Given the description of an element on the screen output the (x, y) to click on. 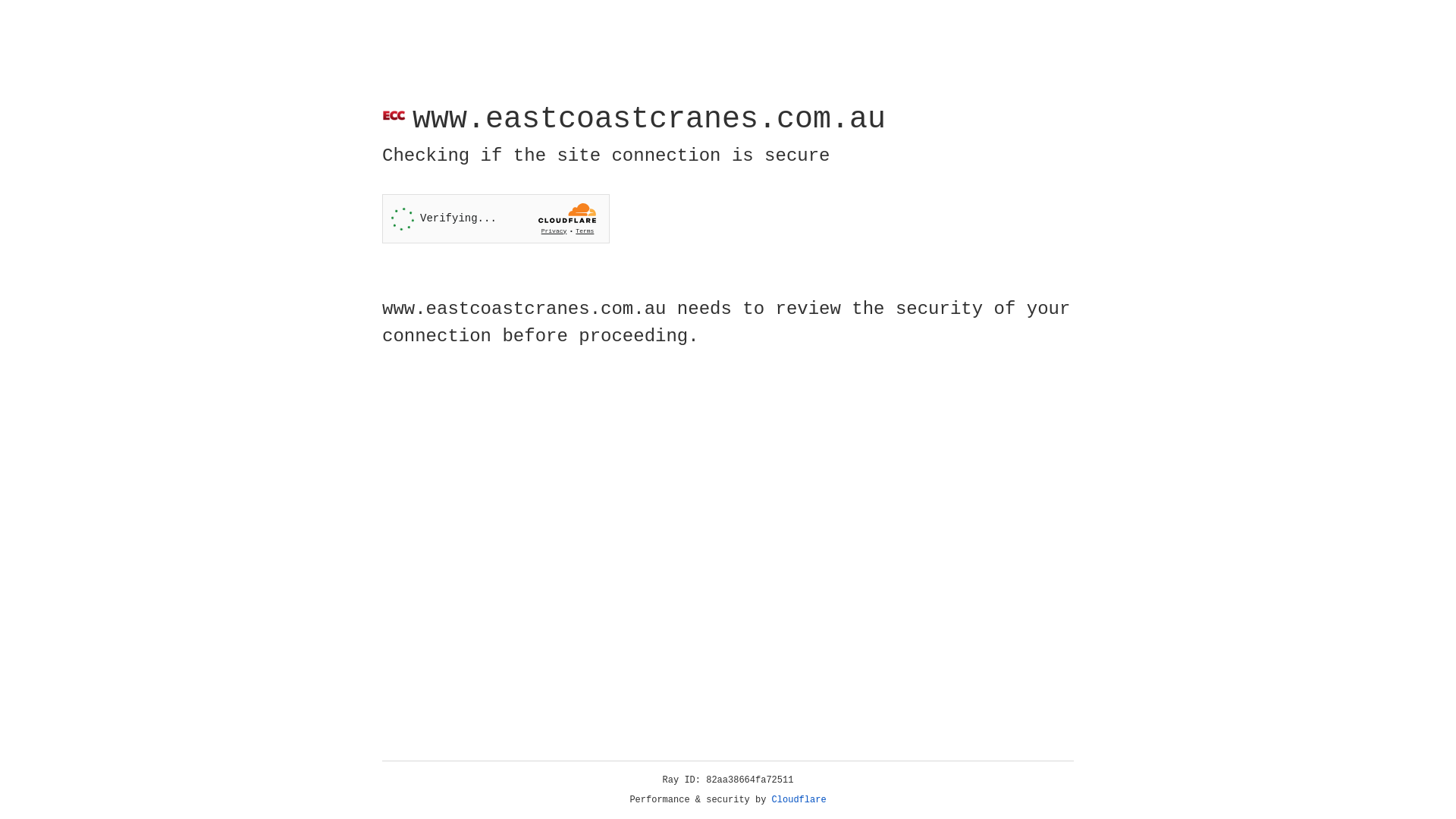
Cloudflare Element type: text (798, 799)
Widget containing a Cloudflare security challenge Element type: hover (495, 218)
